Given the description of an element on the screen output the (x, y) to click on. 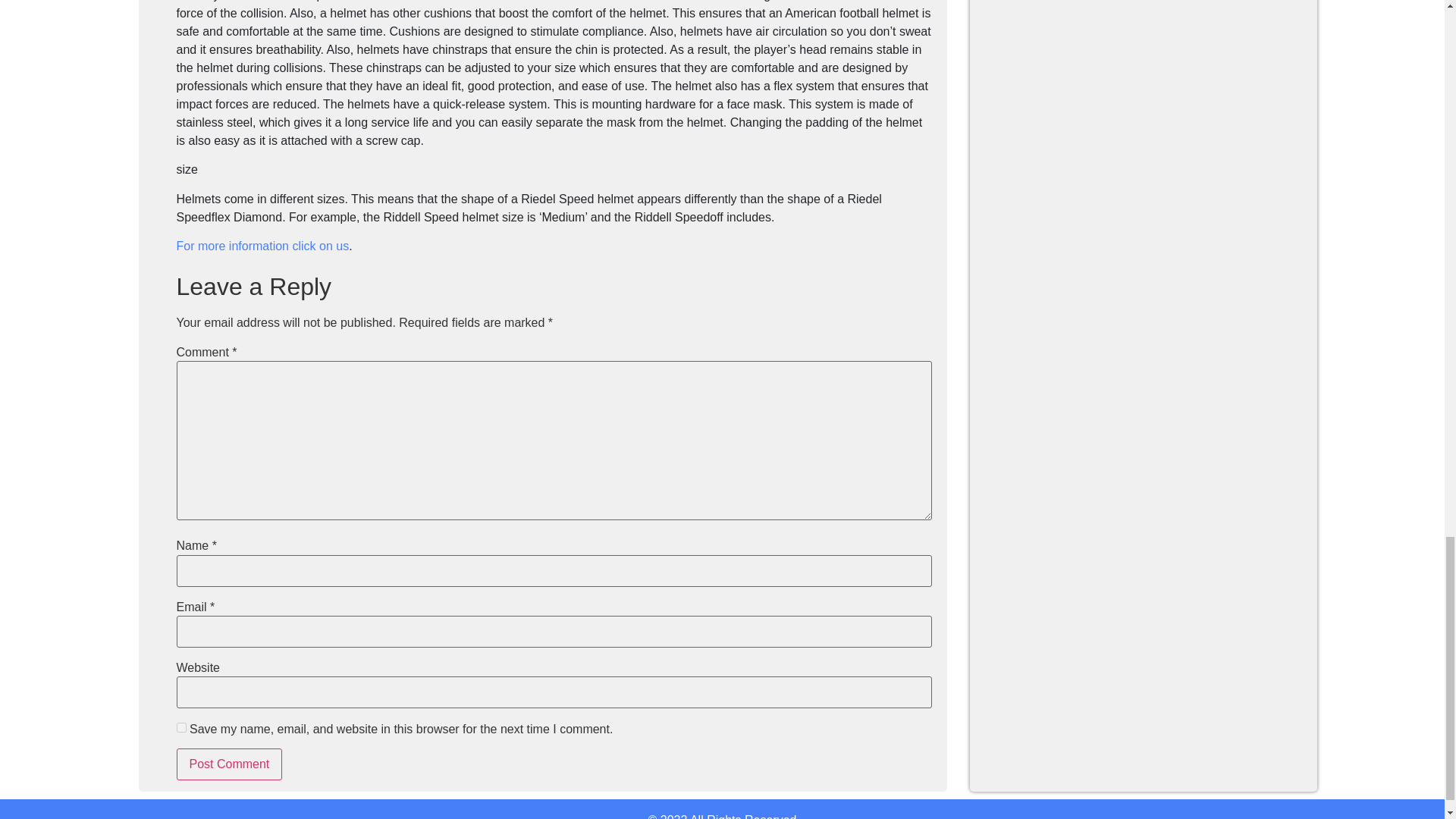
Post Comment (229, 764)
Post Comment (229, 764)
For more information click on us (262, 245)
yes (181, 727)
